Given the description of an element on the screen output the (x, y) to click on. 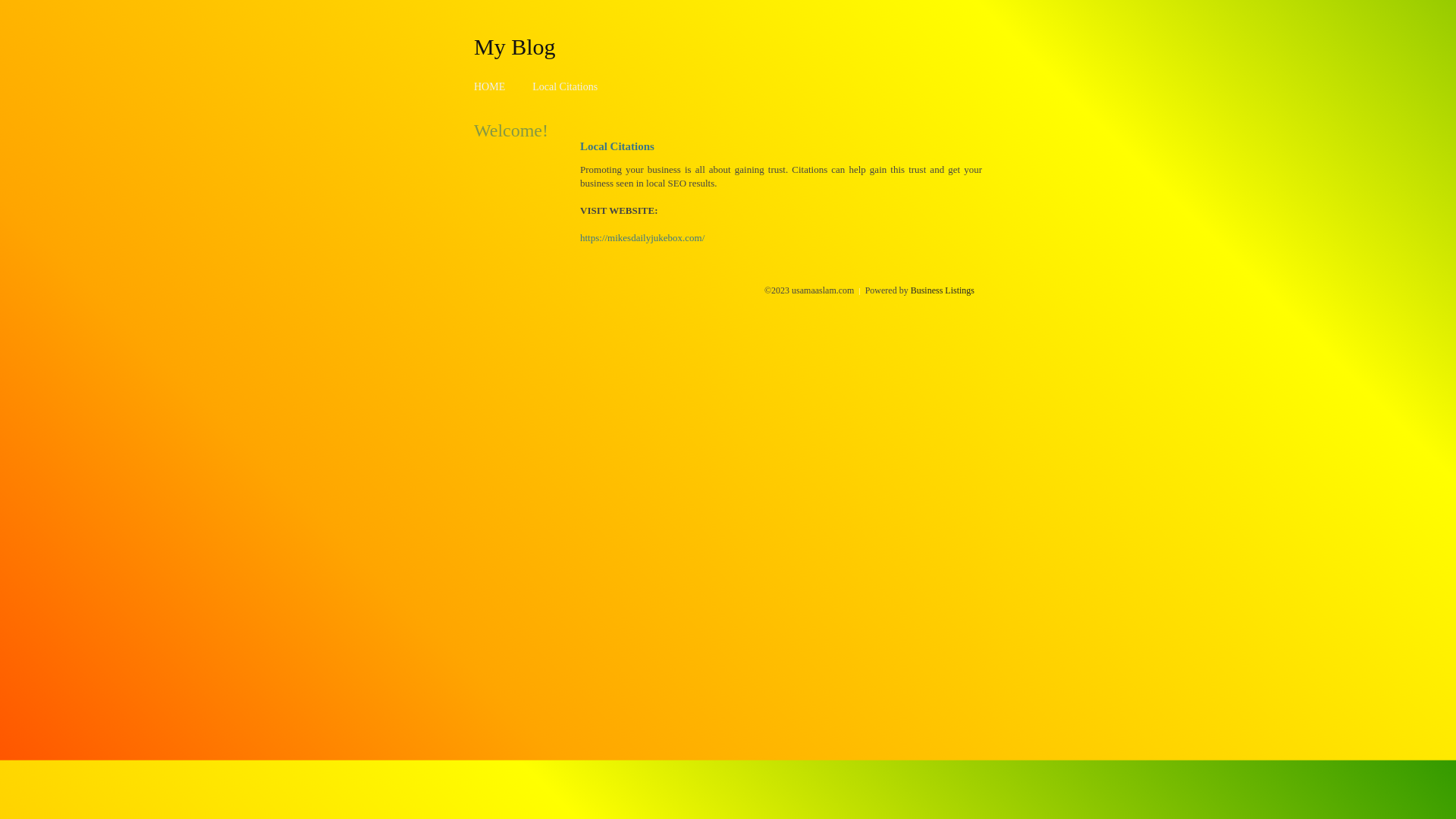
Local Citations Element type: text (564, 86)
https://mikesdailyjukebox.com/ Element type: text (642, 237)
HOME Element type: text (489, 86)
My Blog Element type: text (514, 46)
Business Listings Element type: text (942, 290)
